Given the description of an element on the screen output the (x, y) to click on. 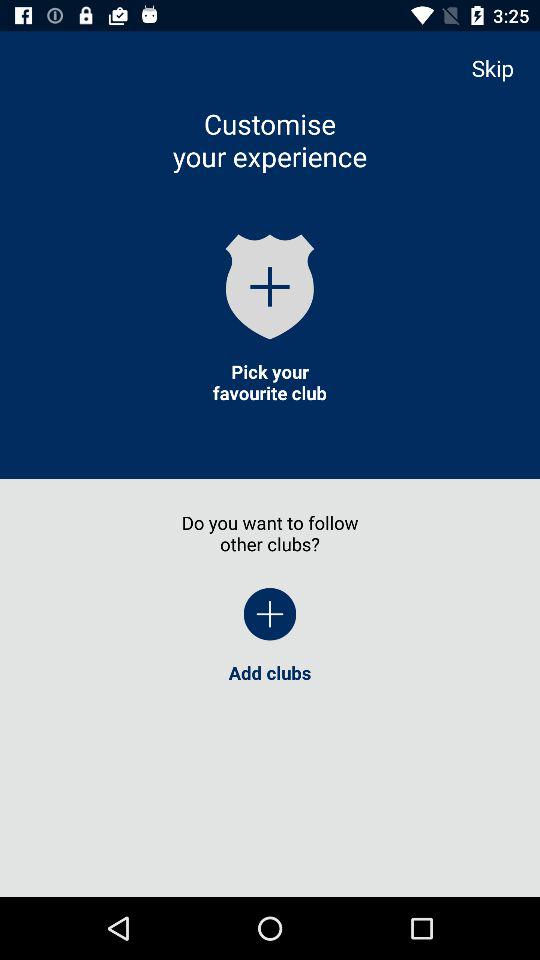
choose the icon below customise
your experience icon (269, 286)
